Given the description of an element on the screen output the (x, y) to click on. 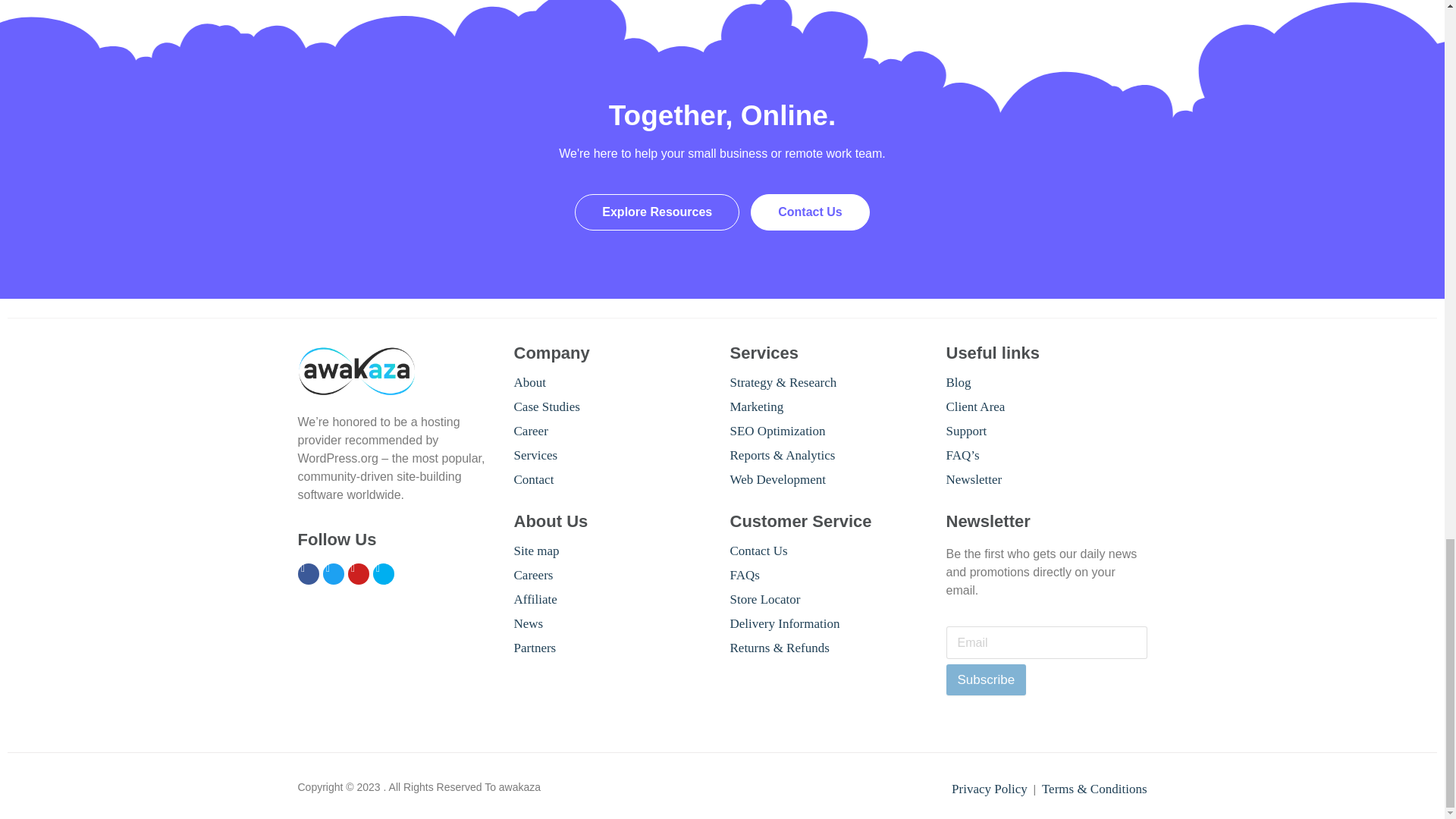
Case Studies (546, 406)
Partners (534, 647)
SEO Optimization (777, 431)
FAQs (743, 575)
About (530, 382)
Store Locator (764, 599)
News (528, 623)
Web Development (777, 479)
Affiliate (535, 599)
Careers (533, 575)
Contact Us (810, 212)
Explore Resources (657, 212)
Site map (536, 550)
Contact Us (758, 550)
Contact (533, 479)
